Given the description of an element on the screen output the (x, y) to click on. 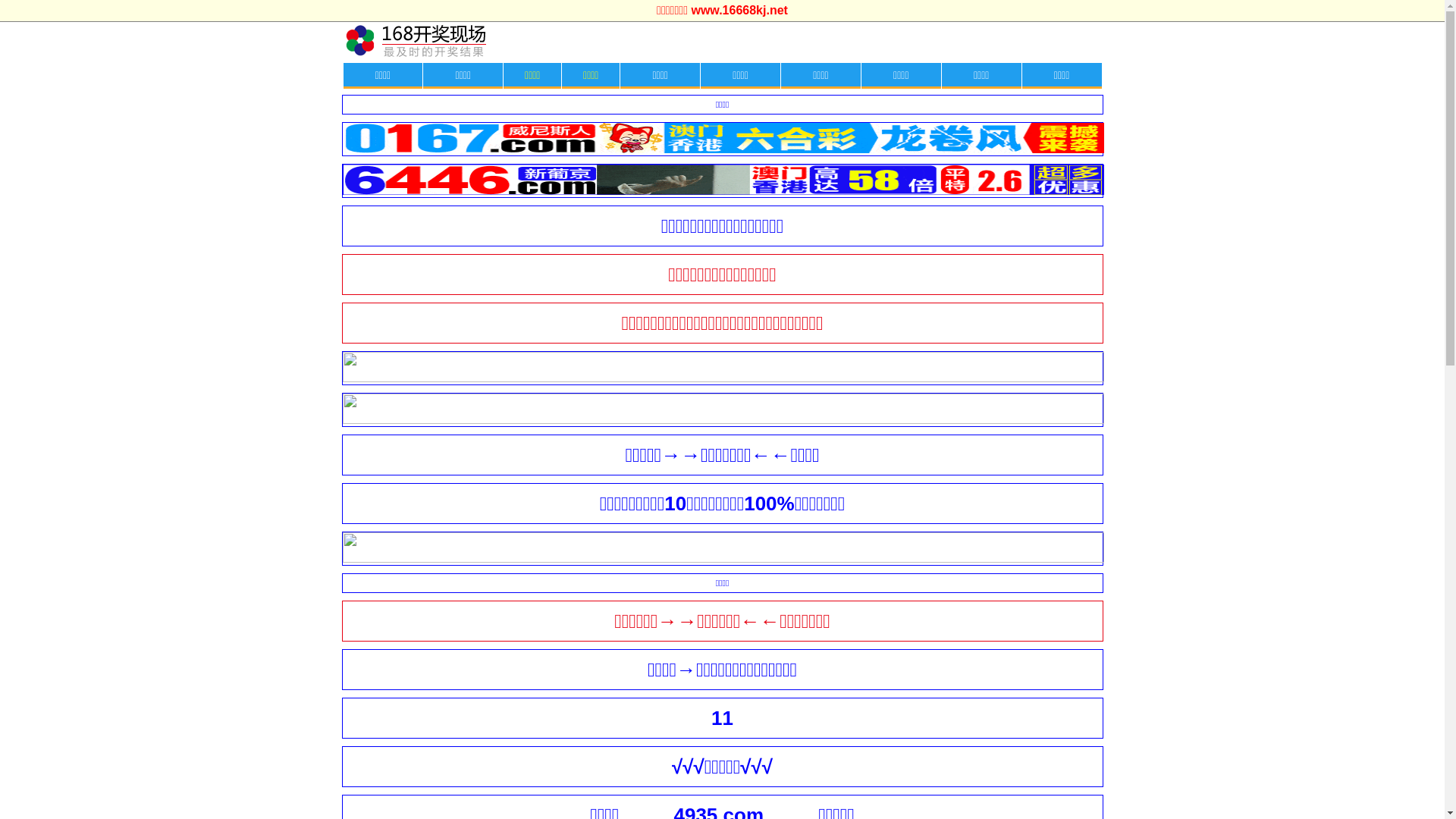
01-10 Element type: hover (723, 420)
11-14 Element type: hover (723, 149)
11-18 Element type: hover (723, 559)
11-14 Element type: hover (723, 191)
01-10 Element type: hover (723, 378)
11 Element type: text (722, 721)
